Given the description of an element on the screen output the (x, y) to click on. 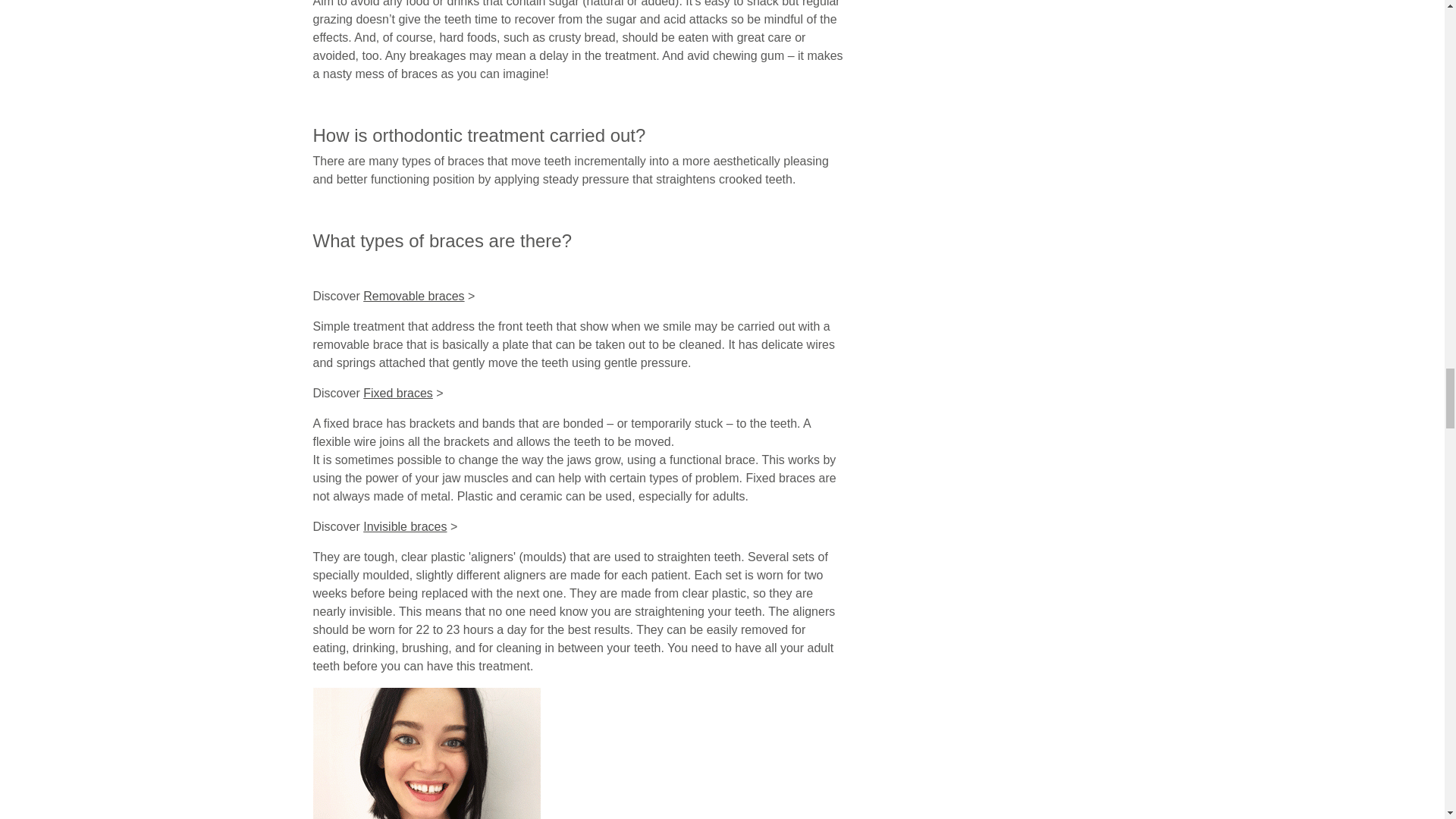
Removable braces (413, 295)
Invisible braces (404, 526)
Fixed braces (397, 392)
